Given the description of an element on the screen output the (x, y) to click on. 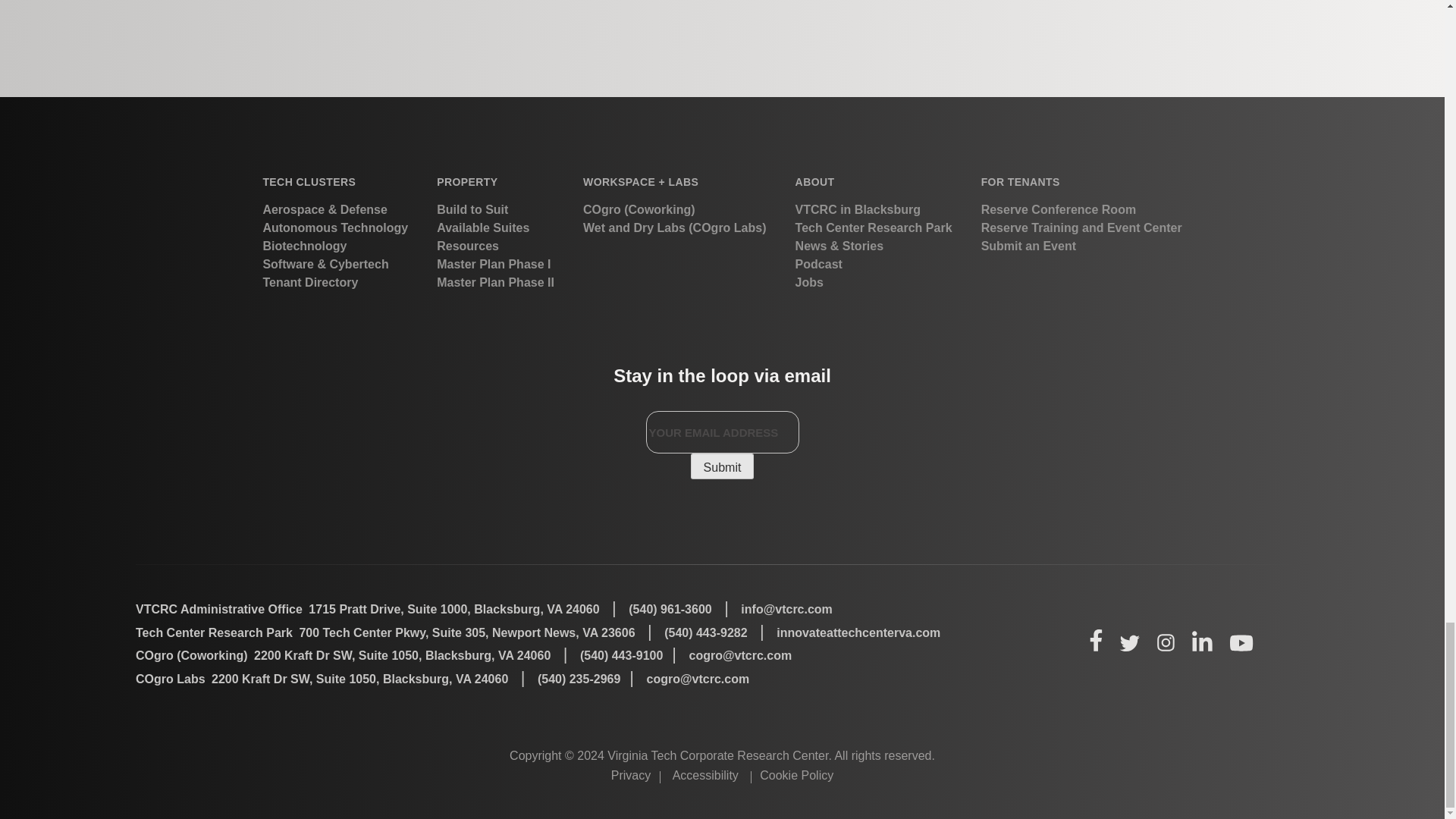
Generated with Avocode. youtube (1241, 642)
Submit (722, 466)
Generated with Avocode. linkedin-in (1201, 640)
Generated with Avocode. twitter (1129, 642)
Generated with Avocode. instagram (1165, 642)
